Given the description of an element on the screen output the (x, y) to click on. 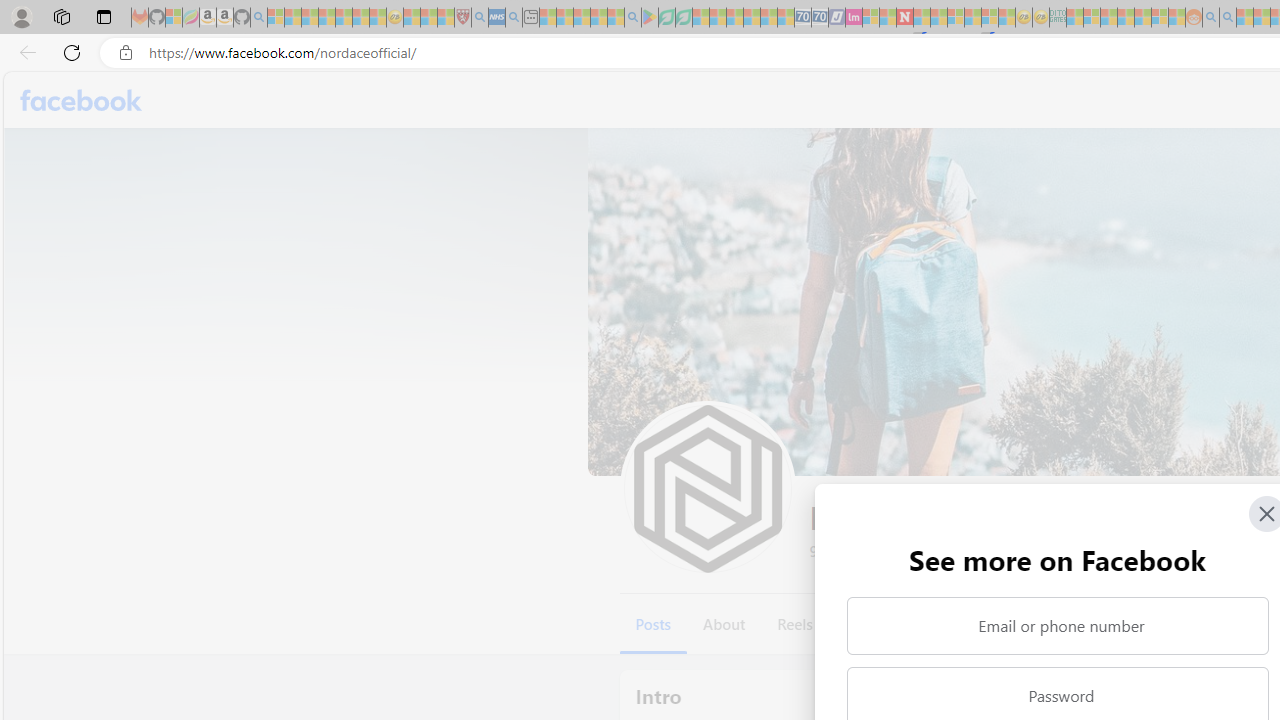
Facebook (81, 99)
